Given the description of an element on the screen output the (x, y) to click on. 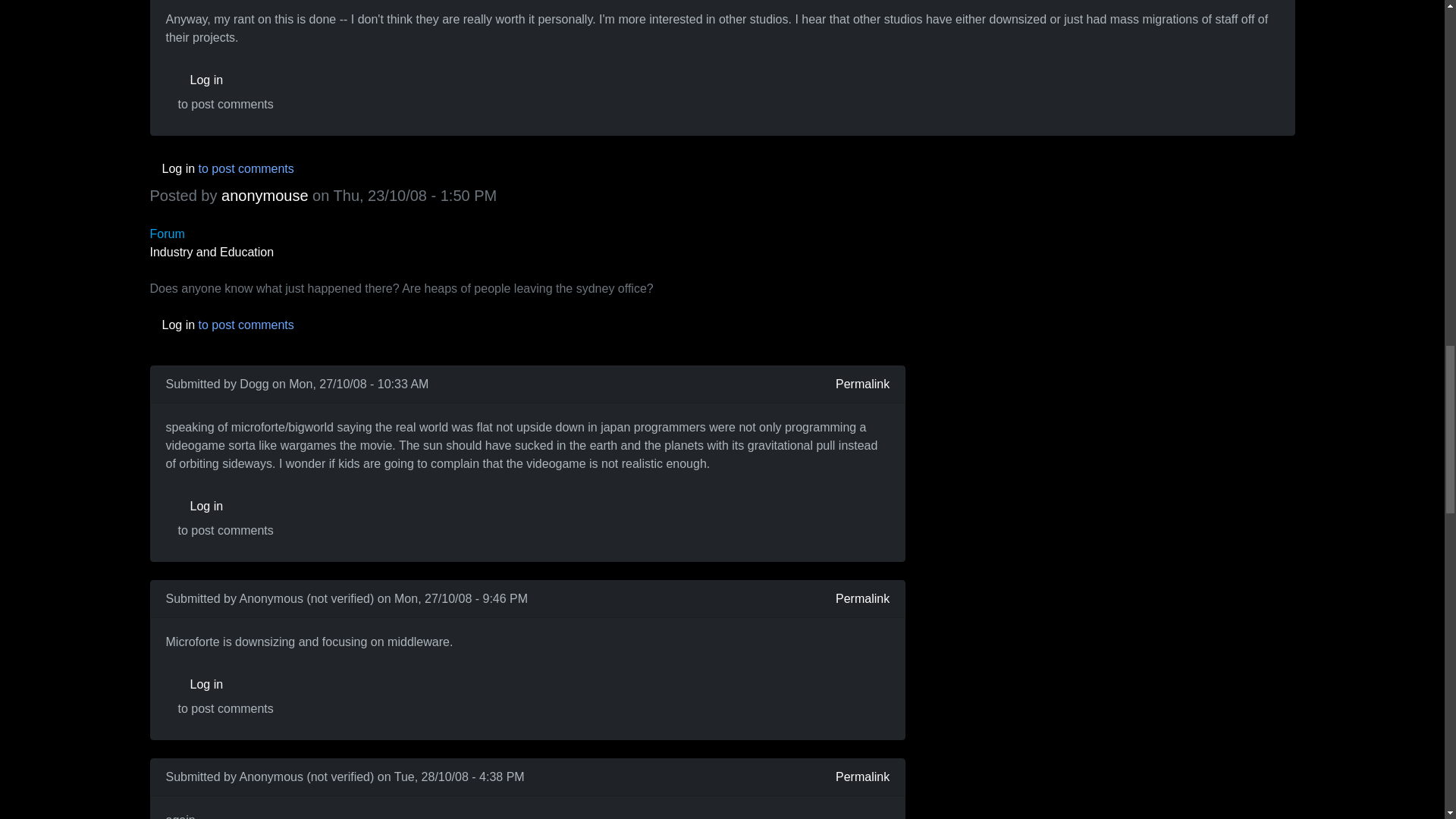
View user profile. (264, 195)
Thursday, 23 October, 2008 - 1:50 PM (415, 195)
